Given the description of an element on the screen output the (x, y) to click on. 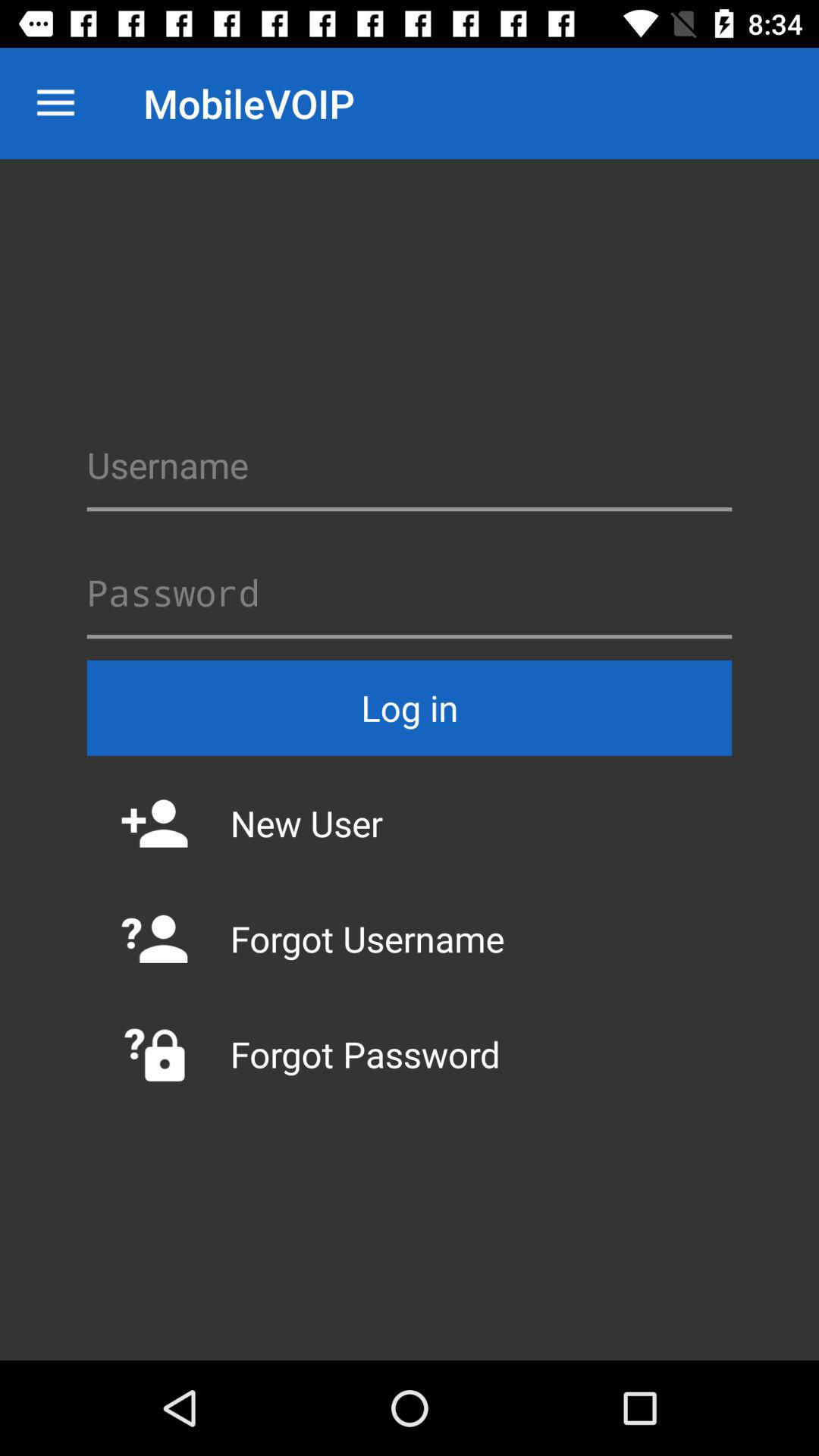
swipe to the new user icon (409, 823)
